Given the description of an element on the screen output the (x, y) to click on. 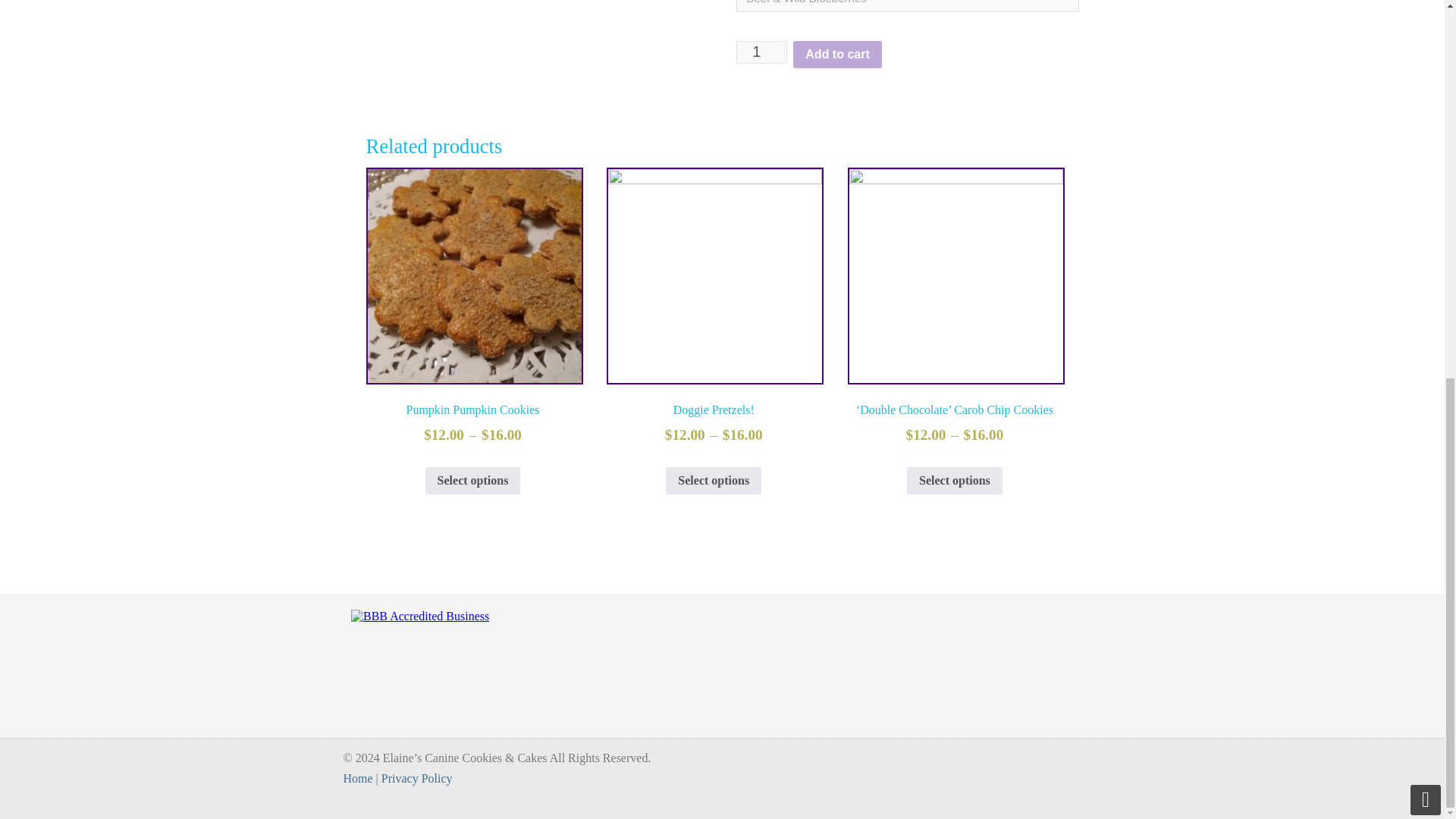
Home (357, 778)
Add to cart (836, 53)
Select options (955, 480)
1 (761, 51)
Select options (713, 480)
Privacy Policy (416, 778)
Select options (473, 480)
